Given the description of an element on the screen output the (x, y) to click on. 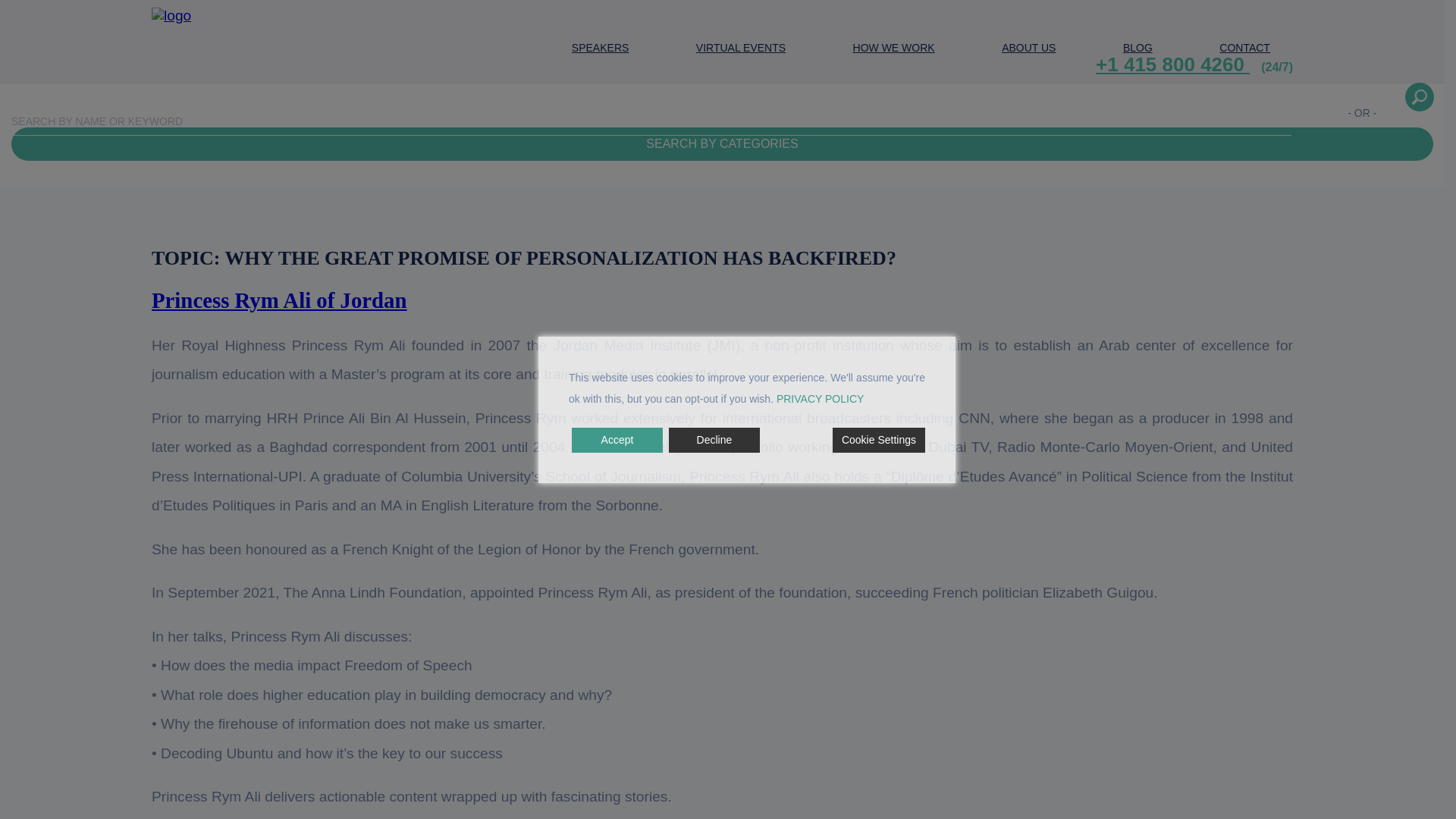
SPEAKERS (600, 49)
SEARCH BY CATEGORIES (721, 143)
ABOUT US (1028, 49)
BLOG (1137, 49)
VIRTUAL EVENTS (740, 49)
CONTACT (1244, 49)
HOW WE WORK (893, 49)
